Given the description of an element on the screen output the (x, y) to click on. 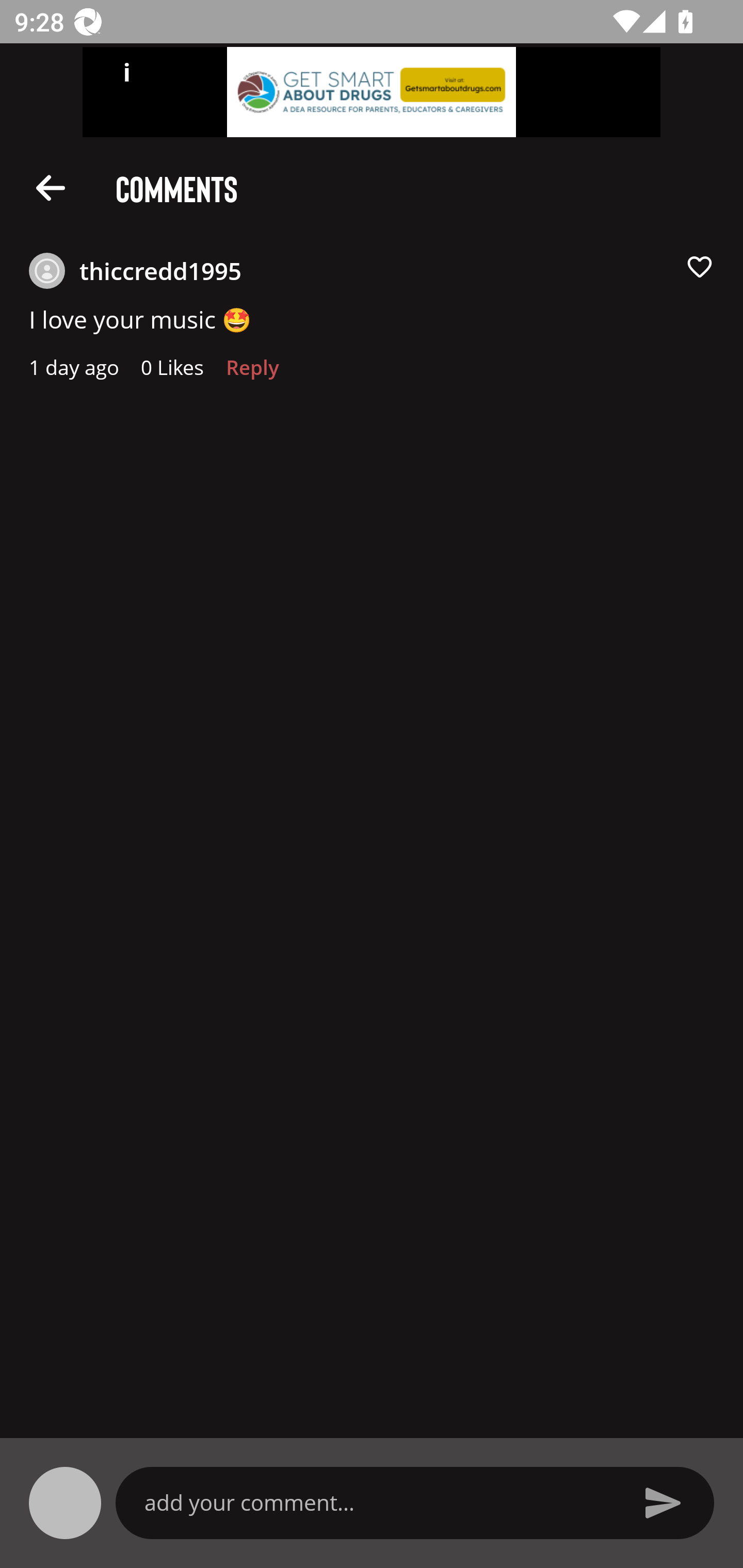
Description (50, 187)
Reply (252, 372)
add your comment… (378, 1502)
